Given the description of an element on the screen output the (x, y) to click on. 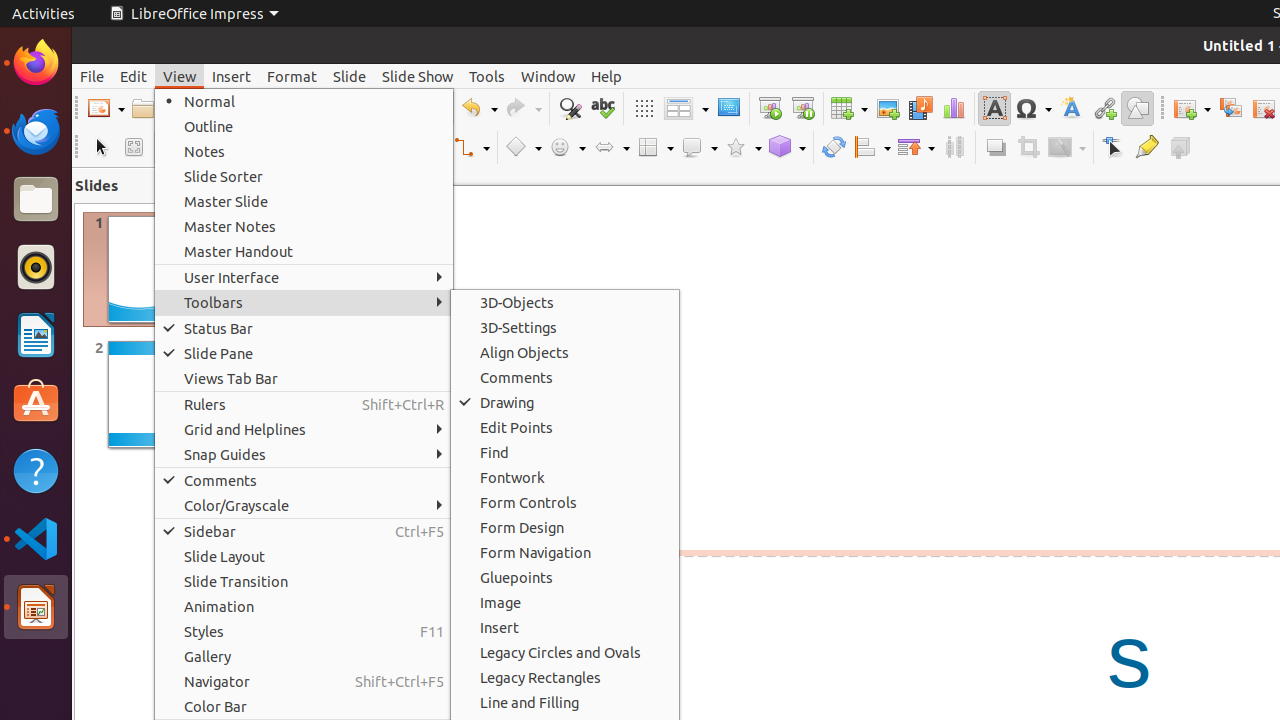
File Element type: menu (92, 76)
Grid and Helplines Element type: menu (304, 429)
Edit Element type: menu (133, 76)
Master Notes Element type: radio-menu-item (304, 226)
